Given the description of an element on the screen output the (x, y) to click on. 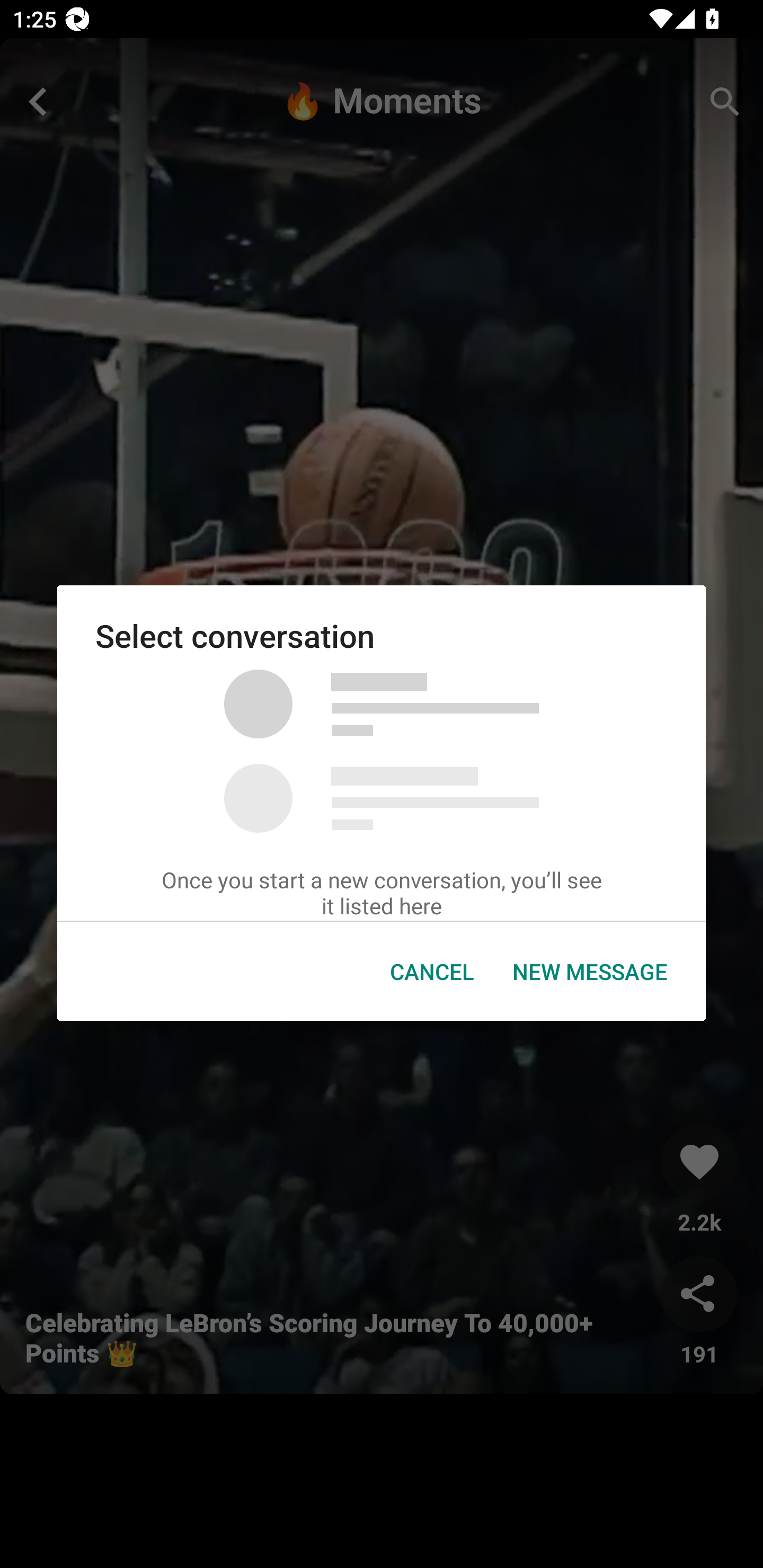
CANCEL (431, 971)
NEW MESSAGE (589, 971)
